Given the description of an element on the screen output the (x, y) to click on. 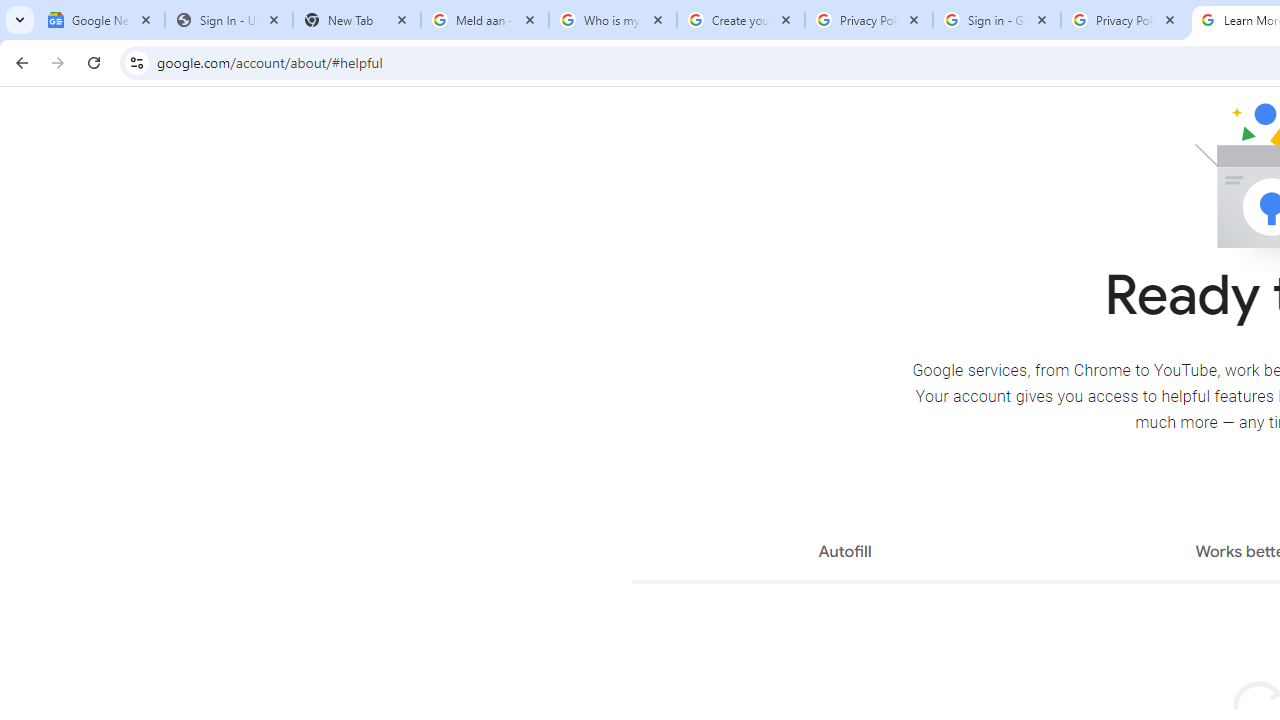
Autofill (844, 553)
New Tab (357, 20)
Sign In - USA TODAY (229, 20)
Create your Google Account (741, 20)
Google News (101, 20)
Who is my administrator? - Google Account Help (613, 20)
